Given the description of an element on the screen output the (x, y) to click on. 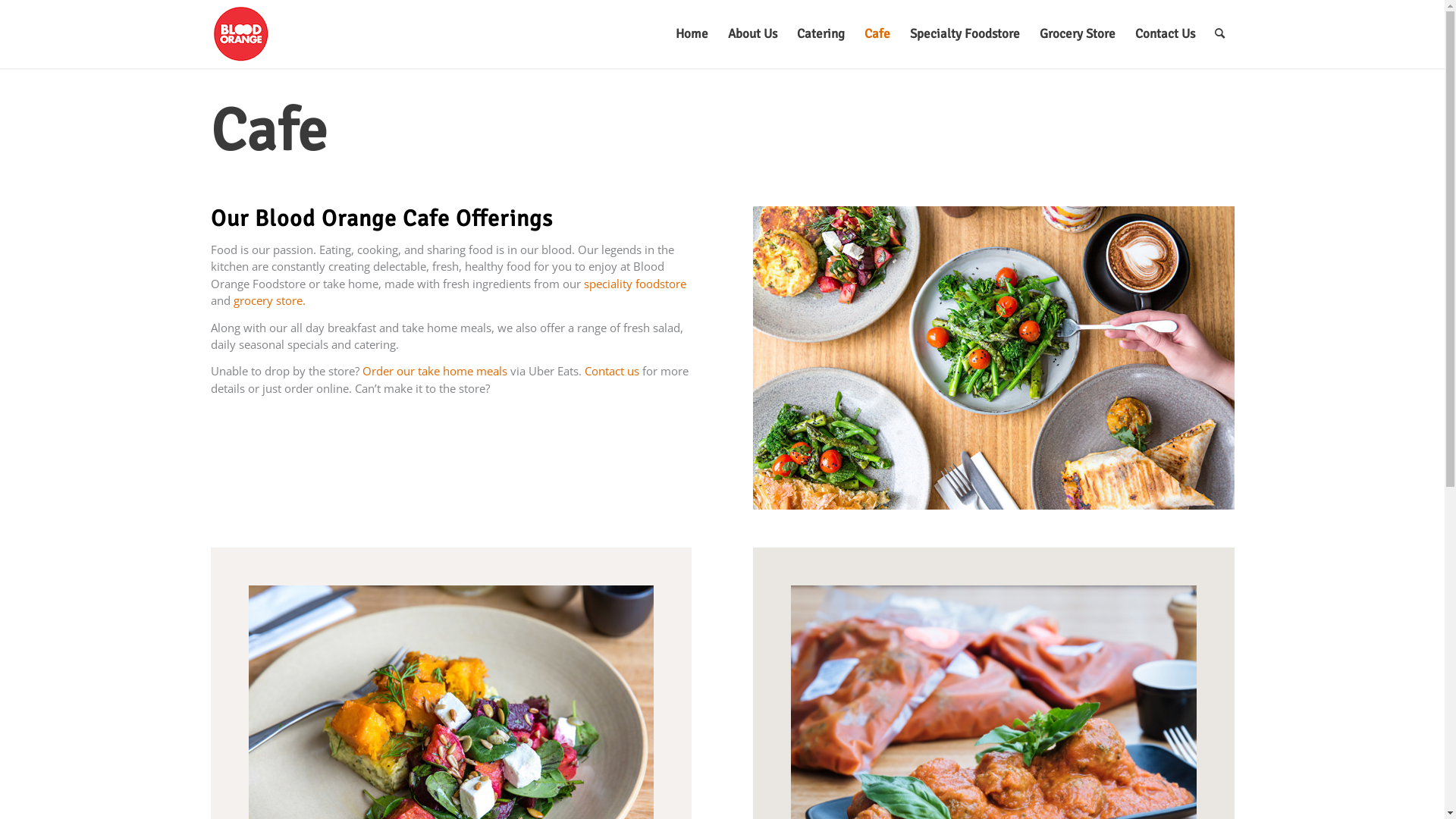
Specialty Foodstore Element type: text (964, 34)
Grocery Store Element type: text (1077, 34)
Contact Us Element type: text (1164, 34)
Contact us Element type: text (610, 370)
blood-orange-logo-2 Element type: hover (240, 31)
Catering Element type: text (820, 34)
Home Element type: text (691, 34)
Cafe Element type: text (876, 34)
About Us Element type: text (751, 34)
Order our take home meals Element type: text (434, 370)
speciality foodstore Element type: text (634, 283)
grocery store. Element type: text (269, 299)
